Given the description of an element on the screen output the (x, y) to click on. 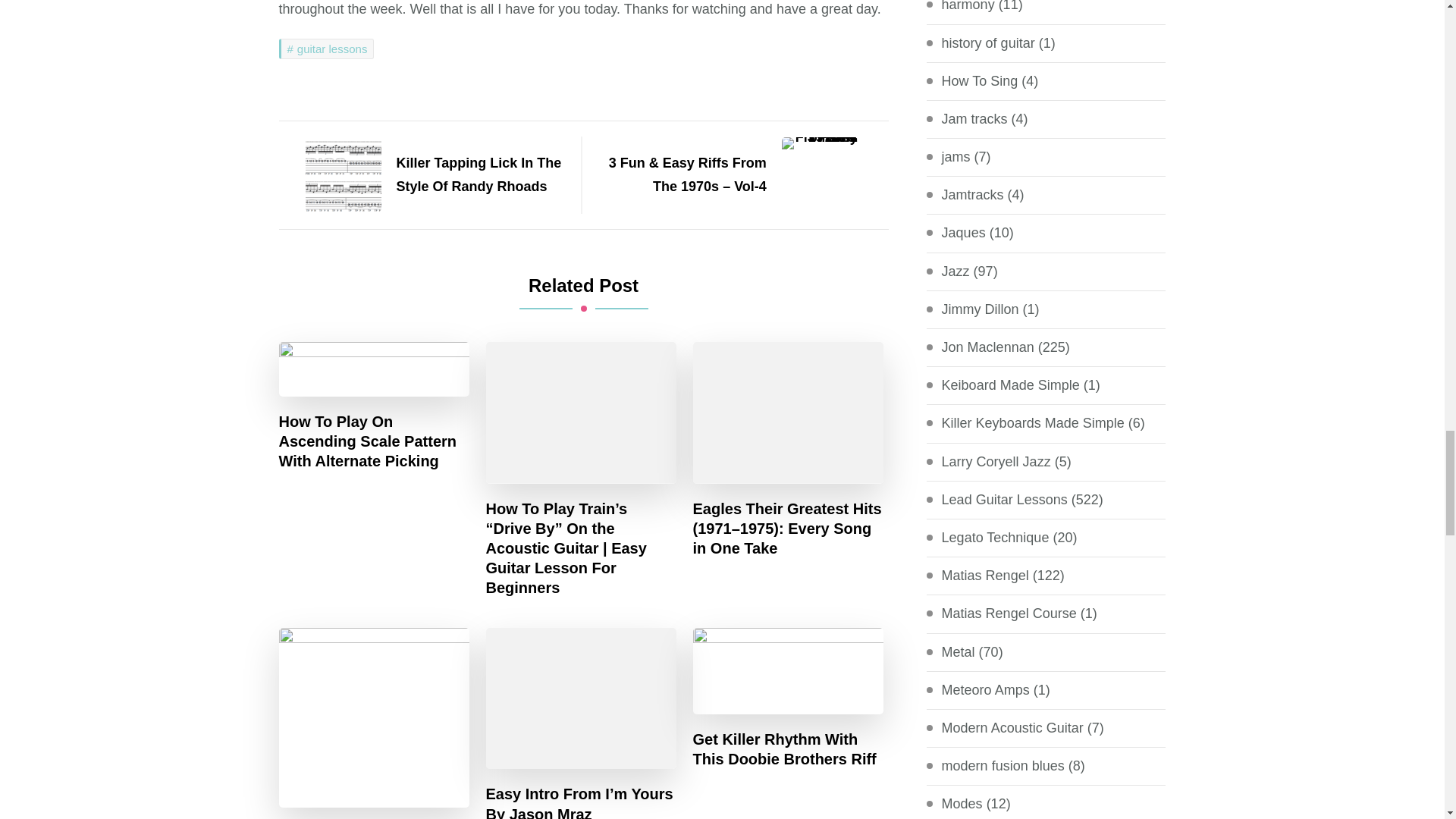
Killer Tapping Lick In The Style Of Randy Rhoads (421, 174)
Get Killer Rhythm With This Doobie Brothers Riff (788, 749)
guitar lessons (326, 48)
